Given the description of an element on the screen output the (x, y) to click on. 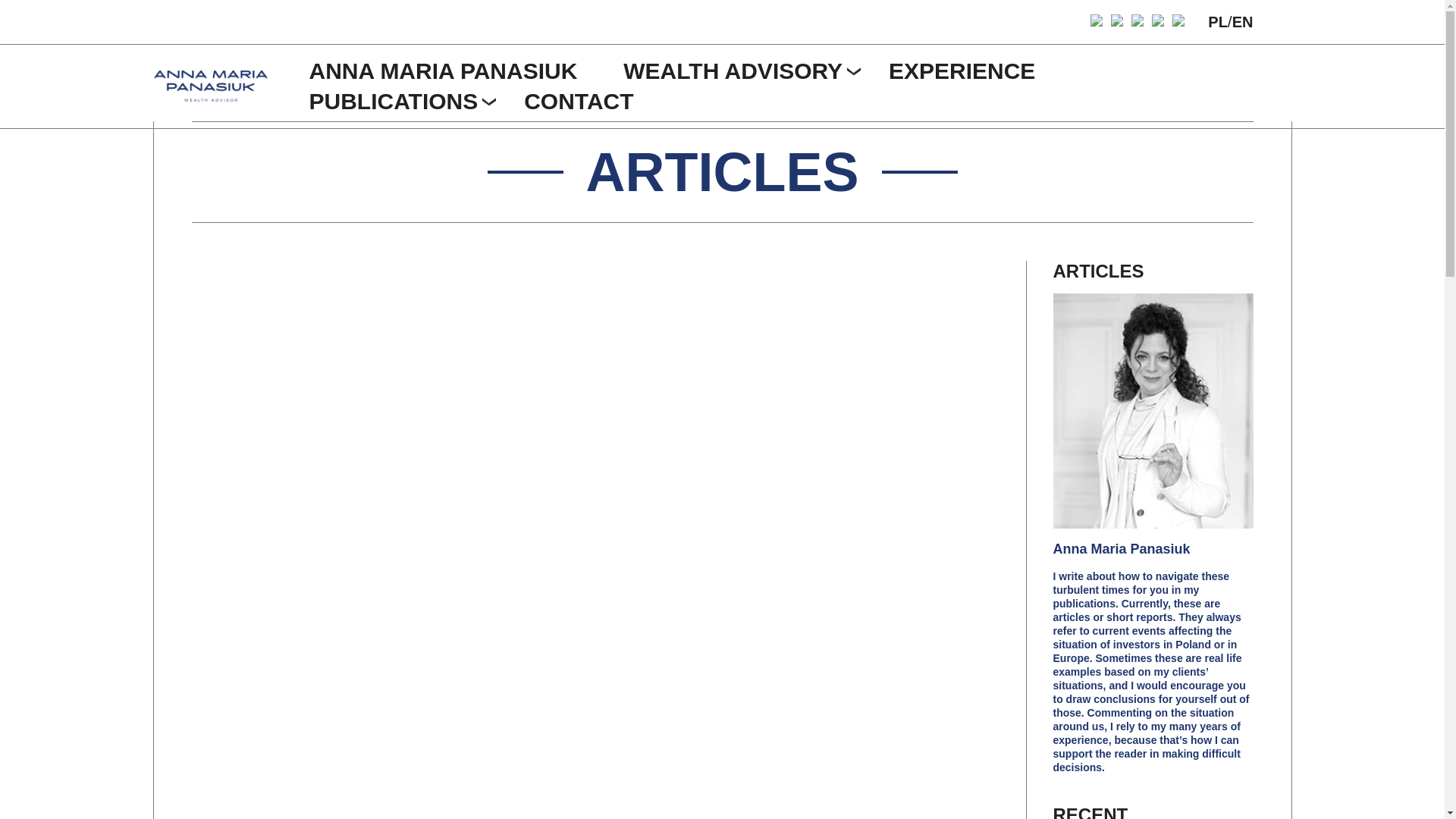
PL (1217, 21)
PUBLICATIONS (393, 100)
EXPERIENCE (961, 69)
CONTACT (578, 100)
EN (1242, 21)
ANNA MARIA PANASIUK (443, 69)
WEALTH ADVISORY (733, 69)
